Given the description of an element on the screen output the (x, y) to click on. 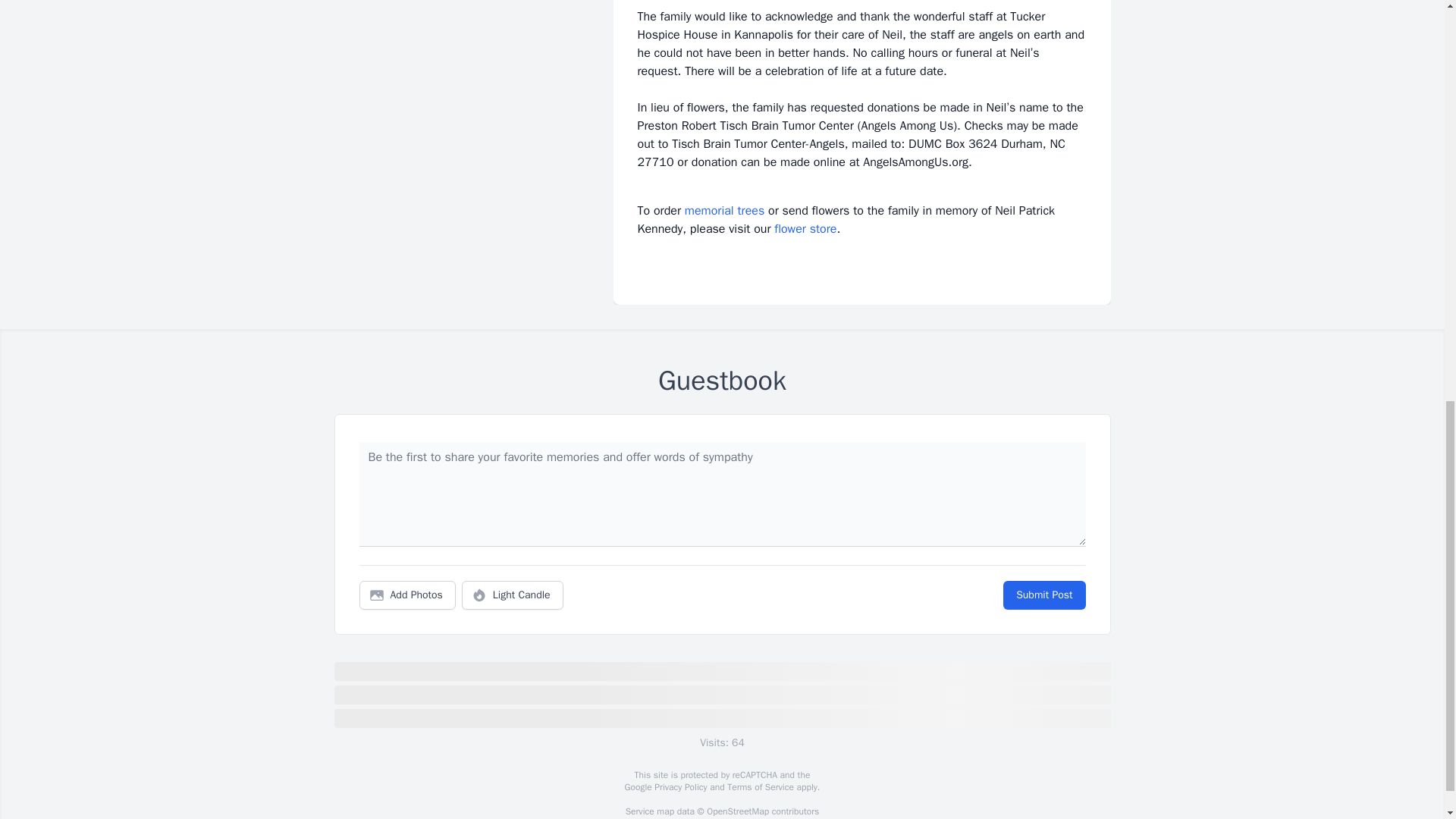
Light Candle (512, 594)
Privacy Policy (679, 787)
flower store (804, 228)
Submit Post (1043, 594)
OpenStreetMap (737, 811)
Add Photos (407, 594)
Terms of Service (759, 787)
memorial trees (724, 210)
